Given the description of an element on the screen output the (x, y) to click on. 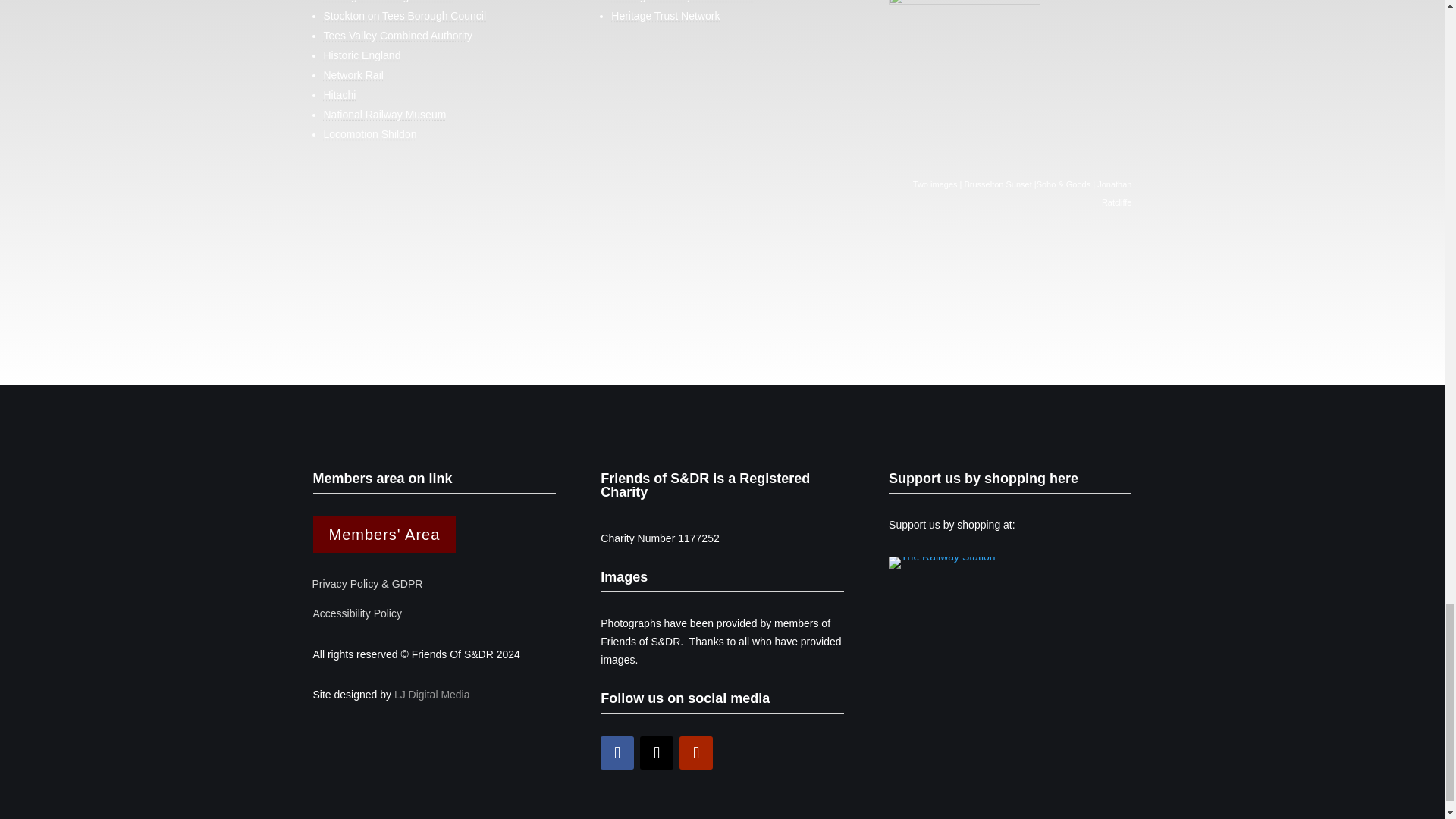
The Railway Station Logo (941, 562)
Follow on X (656, 752)
Follow on Facebook (616, 752)
index (964, 19)
Follow on Youtube (696, 752)
